Given the description of an element on the screen output the (x, y) to click on. 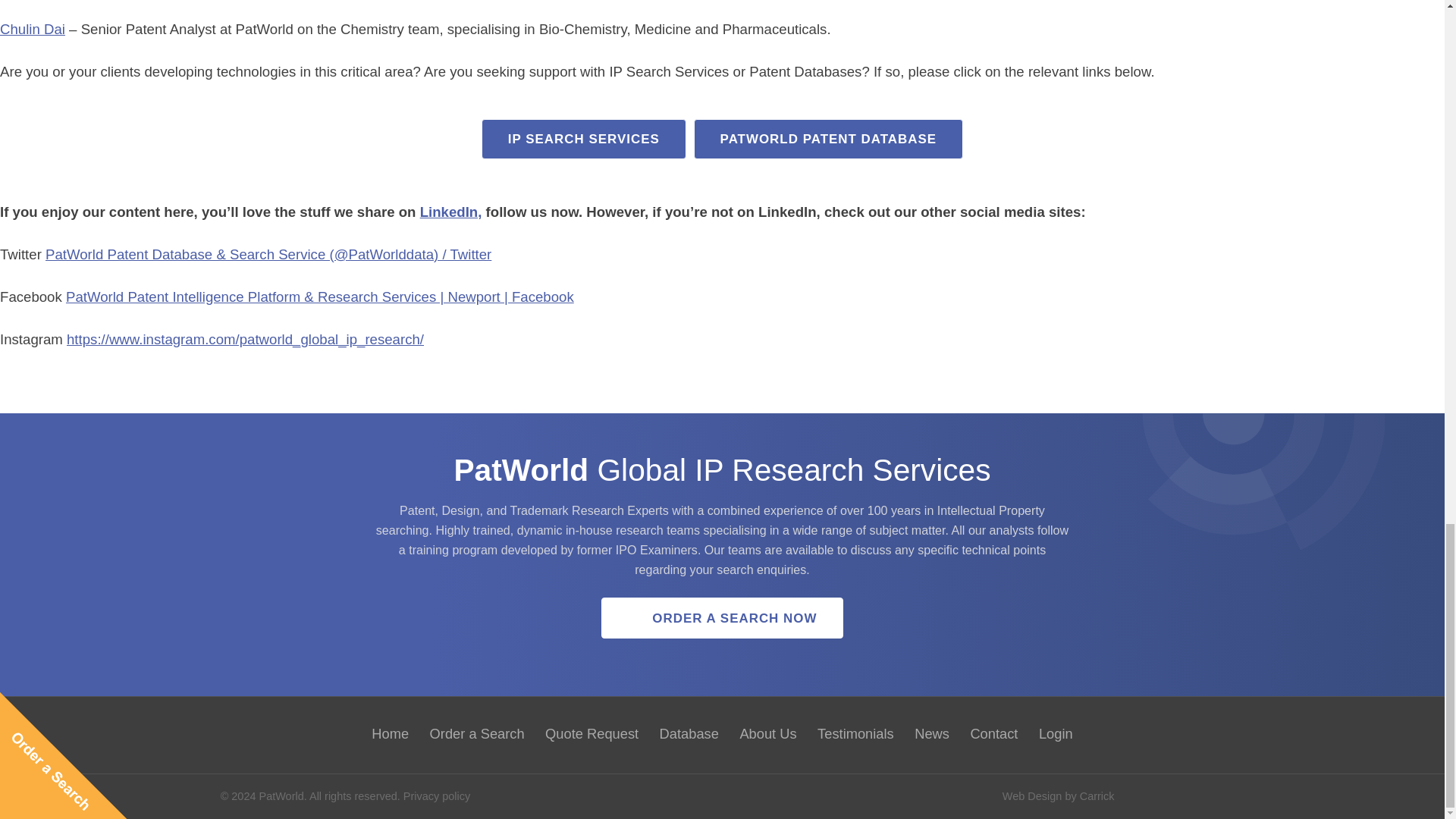
IP SEARCH SERVICES (583, 138)
ORDER A SEARCH NOW (722, 617)
LinkedIn, (450, 211)
Quote Request (591, 733)
Order a Search (477, 733)
About Us (768, 733)
Database (689, 733)
Chulin Dai (32, 28)
PATWORLD PATENT DATABASE (828, 138)
Home (390, 733)
